Given the description of an element on the screen output the (x, y) to click on. 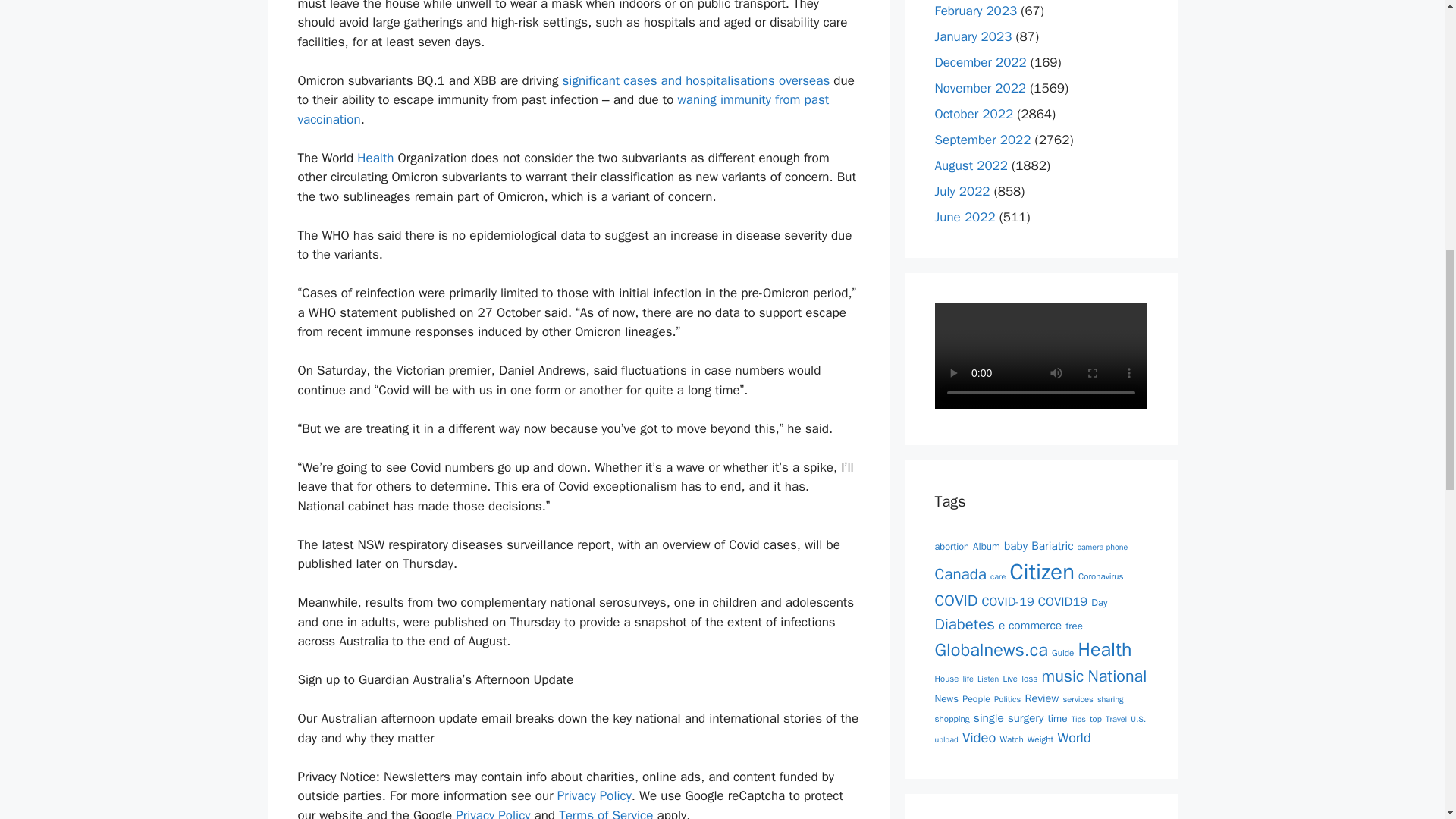
Health (374, 157)
waning immunity from past vaccination (562, 109)
Privacy Policy (492, 813)
significant cases and hospitalisations overseas (695, 80)
Terms of Service (605, 813)
Privacy Policy (594, 795)
